Given the description of an element on the screen output the (x, y) to click on. 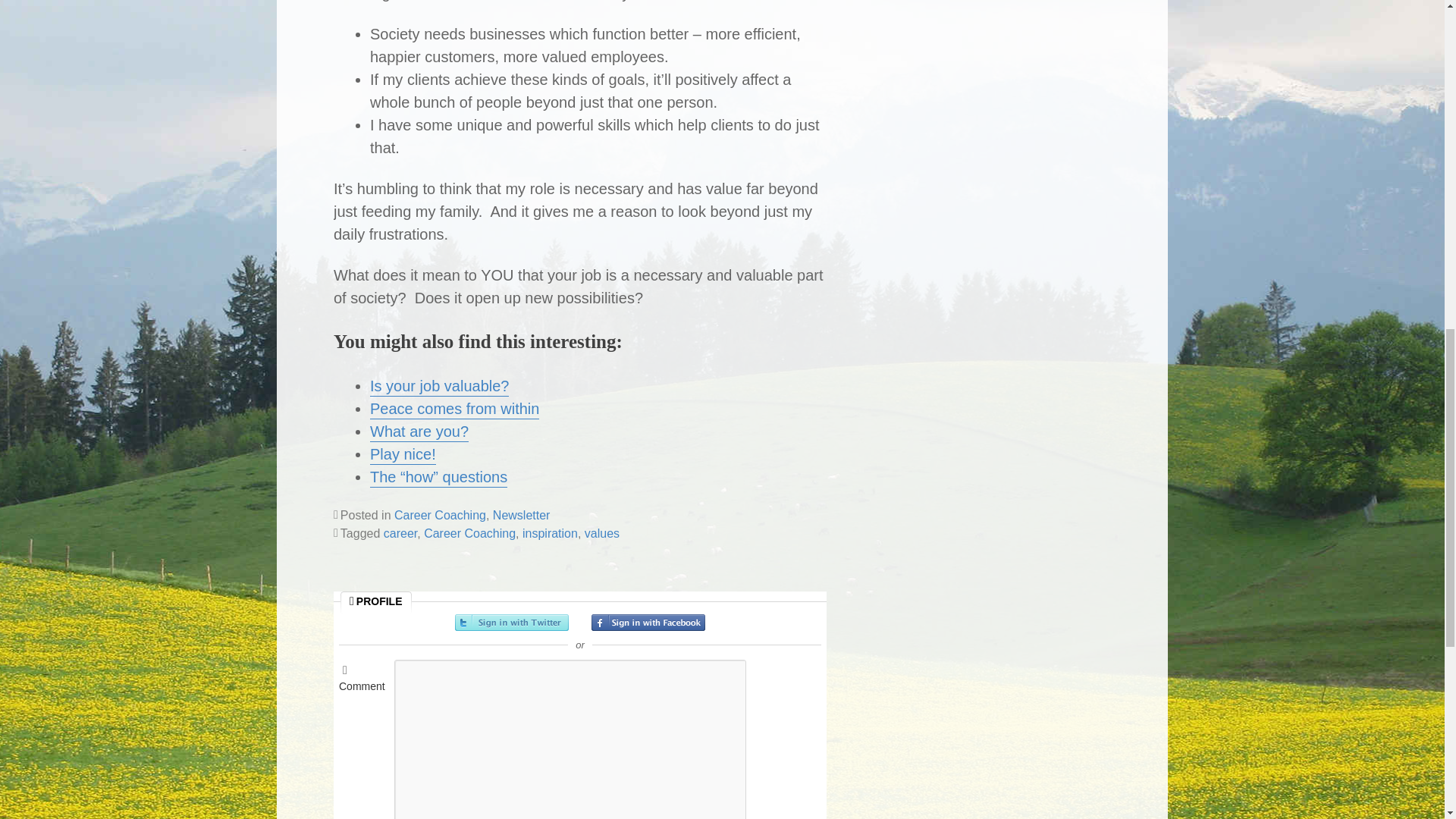
career (400, 533)
Play nice! (402, 455)
26 May 2014 (438, 386)
Career Coaching (440, 514)
Newsletter (521, 514)
Sign in with Twitter (511, 622)
What are you? (418, 432)
1 September 2014 (402, 455)
10 January 2011 (437, 477)
27 May 2013 (453, 409)
